Given the description of an element on the screen output the (x, y) to click on. 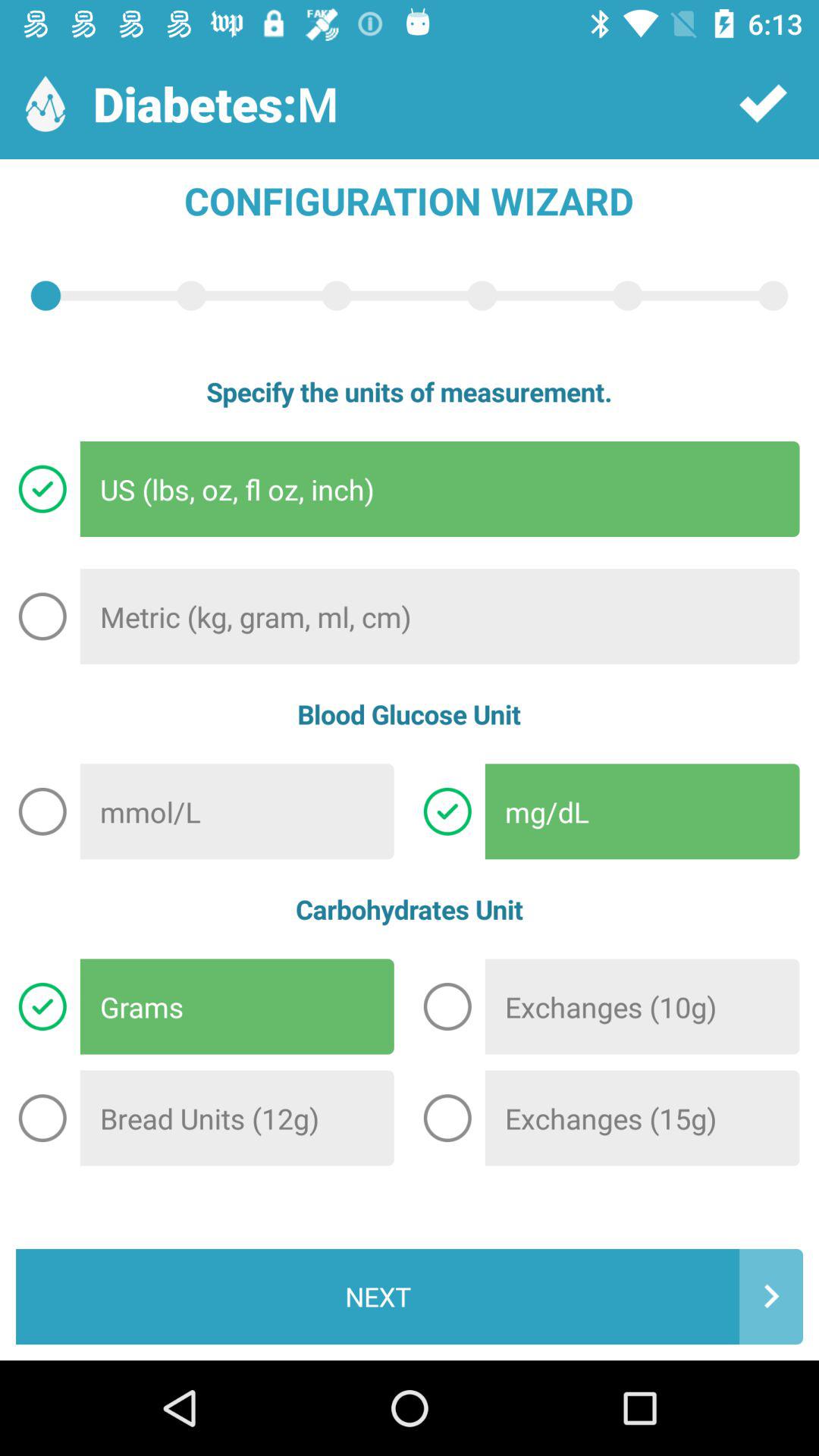
flip until the next (409, 1296)
